Given the description of an element on the screen output the (x, y) to click on. 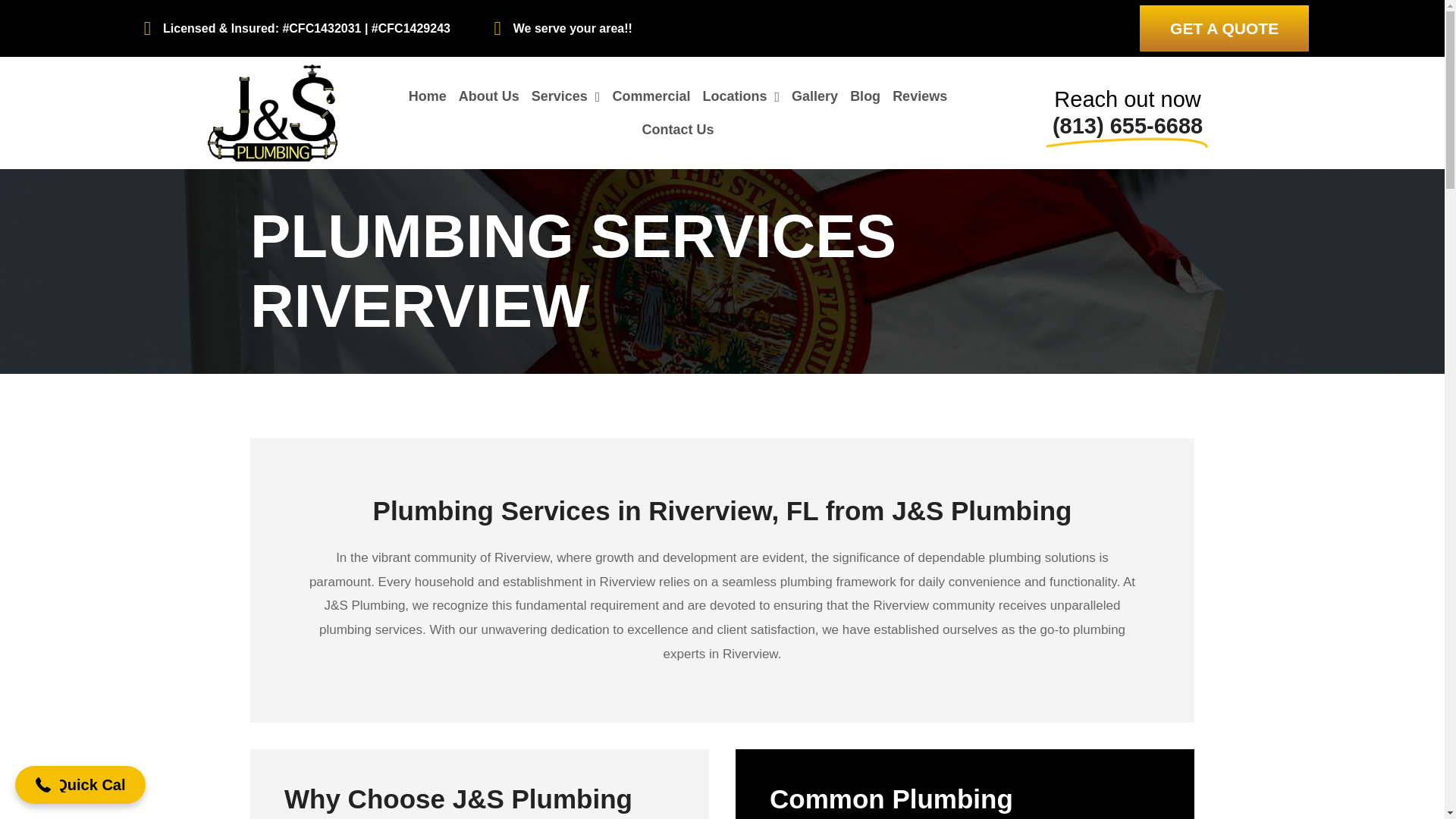
Gallery (815, 96)
About Us (488, 96)
Contact Us (676, 129)
GET A QUOTE (1224, 27)
Home (427, 96)
Reviews (919, 96)
Blog (865, 96)
Services (566, 96)
Locations (740, 96)
Commercial (650, 96)
